Given the description of an element on the screen output the (x, y) to click on. 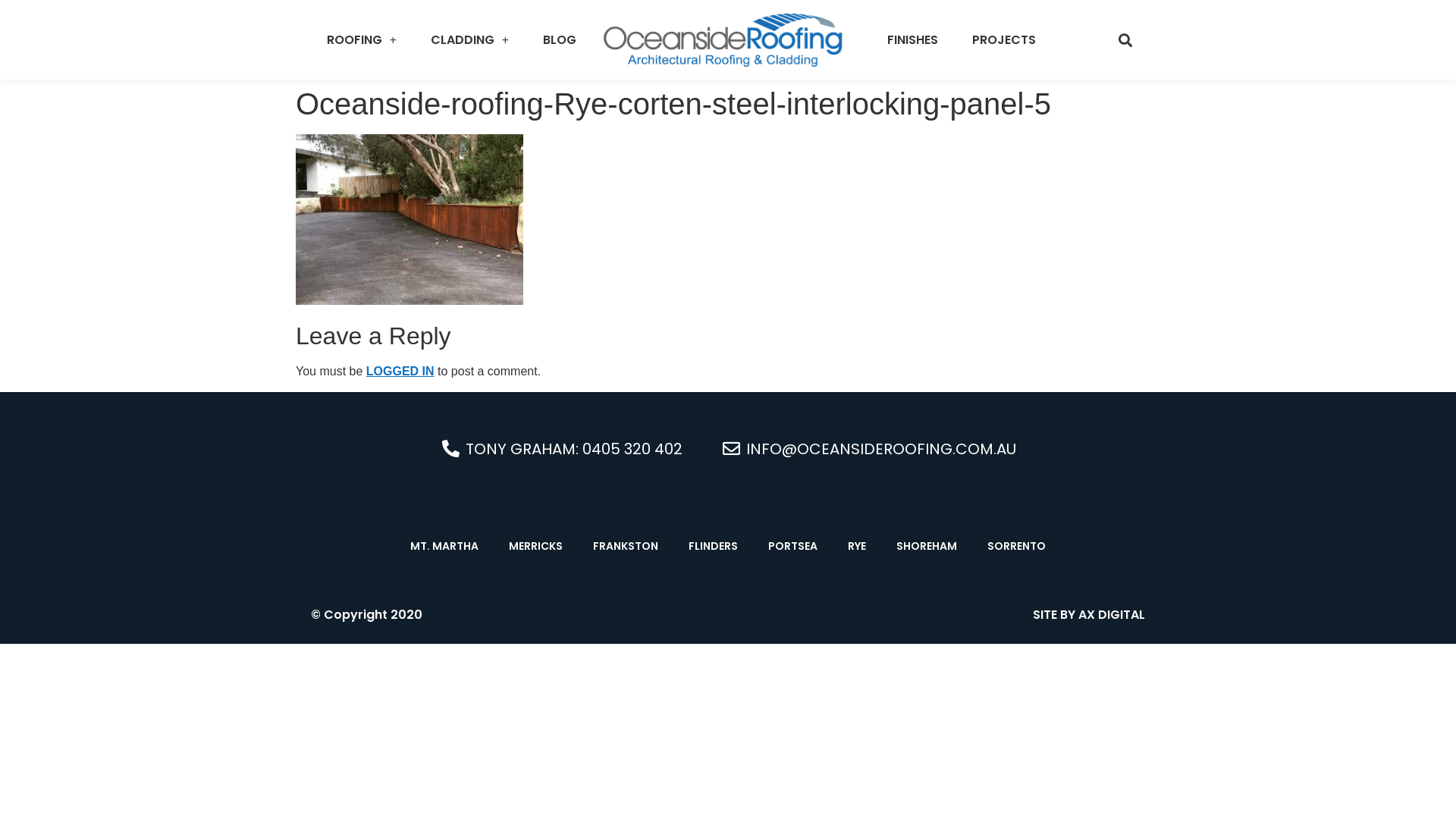
FINISHES Element type: text (912, 39)
FRANKSTON Element type: text (625, 545)
MERRICKS Element type: text (535, 545)
MT. MARTHA Element type: text (444, 545)
PROJECTS Element type: text (1003, 39)
SITE BY AX DIGITAL Element type: text (1088, 614)
SHOREHAM Element type: text (926, 545)
FLINDERS Element type: text (713, 545)
INFO@OCEANSIDEROOFING.COM.AU Element type: text (868, 448)
TONY GRAHAM: 0405 320 402 Element type: text (560, 448)
CLADDING Element type: text (469, 39)
PORTSEA Element type: text (792, 545)
ROOFING Element type: text (361, 39)
SORRENTO Element type: text (1016, 545)
RYE Element type: text (856, 545)
LOGGED IN Element type: text (400, 370)
BLOG Element type: text (559, 39)
